Given the description of an element on the screen output the (x, y) to click on. 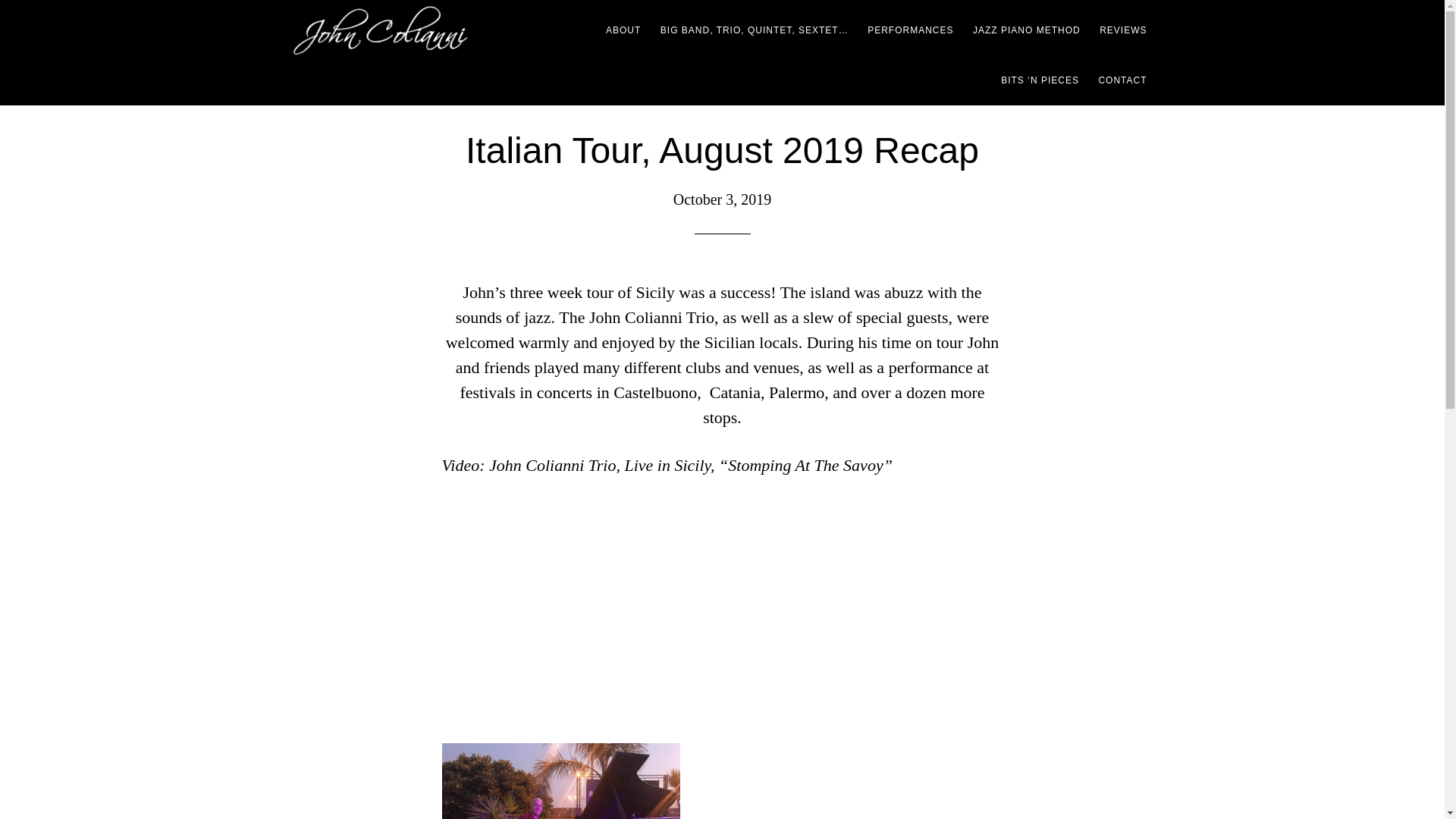
PERFORMANCES (910, 29)
ABOUT (622, 29)
JOHN COLIANNI (425, 30)
JAZZ PIANO METHOD (1026, 29)
CONTACT (1122, 80)
REVIEWS (1123, 29)
